Given the description of an element on the screen output the (x, y) to click on. 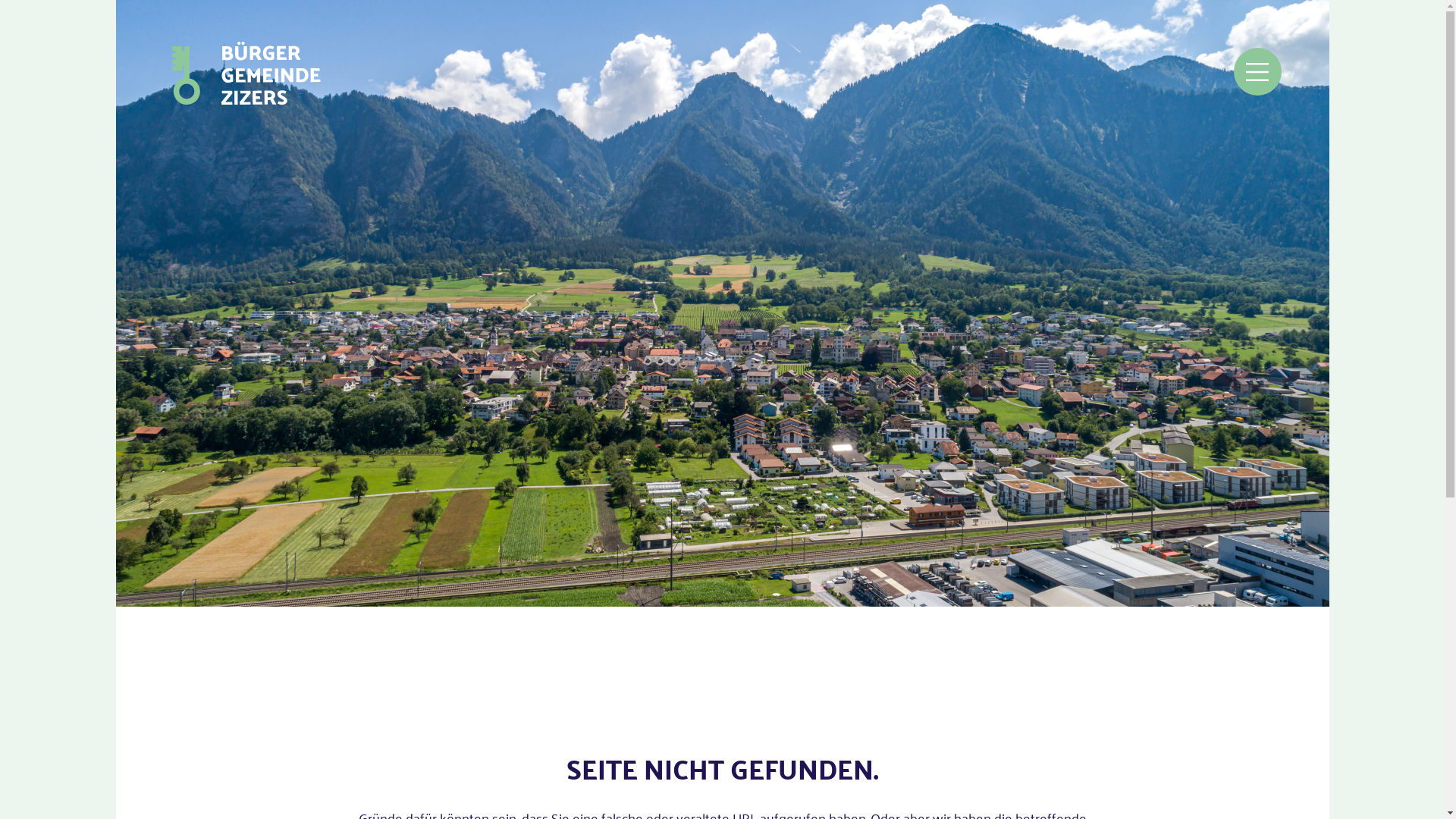
zur Startseite Element type: hover (245, 72)
